Given the description of an element on the screen output the (x, y) to click on. 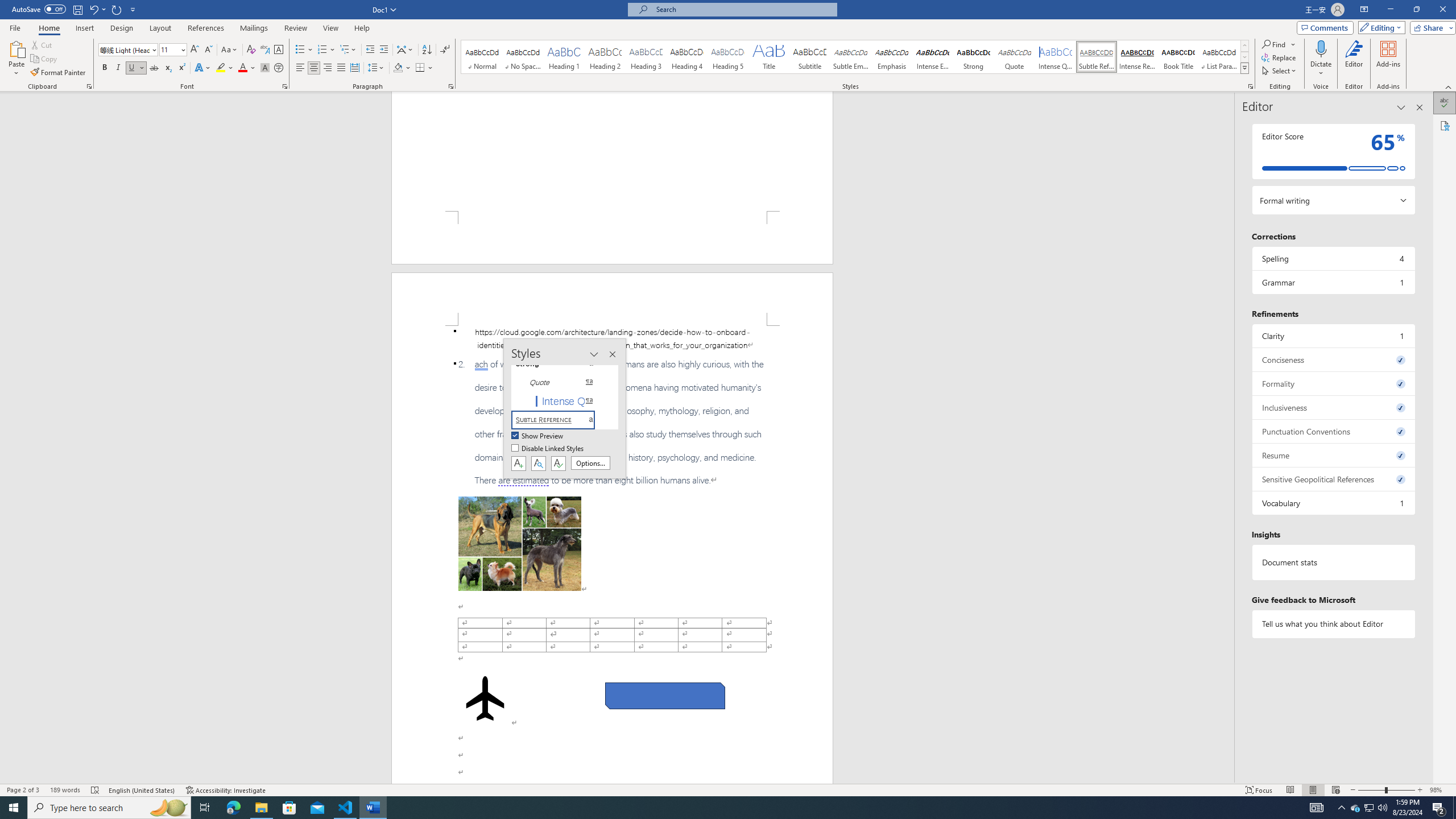
Page 1 content (611, 151)
Text Effects and Typography (202, 67)
Row Down (1244, 56)
Sort... (426, 49)
AutoSave (38, 9)
Document statistics (1333, 561)
File Tab (15, 27)
Increase Indent (383, 49)
Decrease Indent (370, 49)
Undo Paragraph Alignment (92, 9)
Accessibility (1444, 125)
Page Number Page 2 of 3 (22, 790)
